Given the description of an element on the screen output the (x, y) to click on. 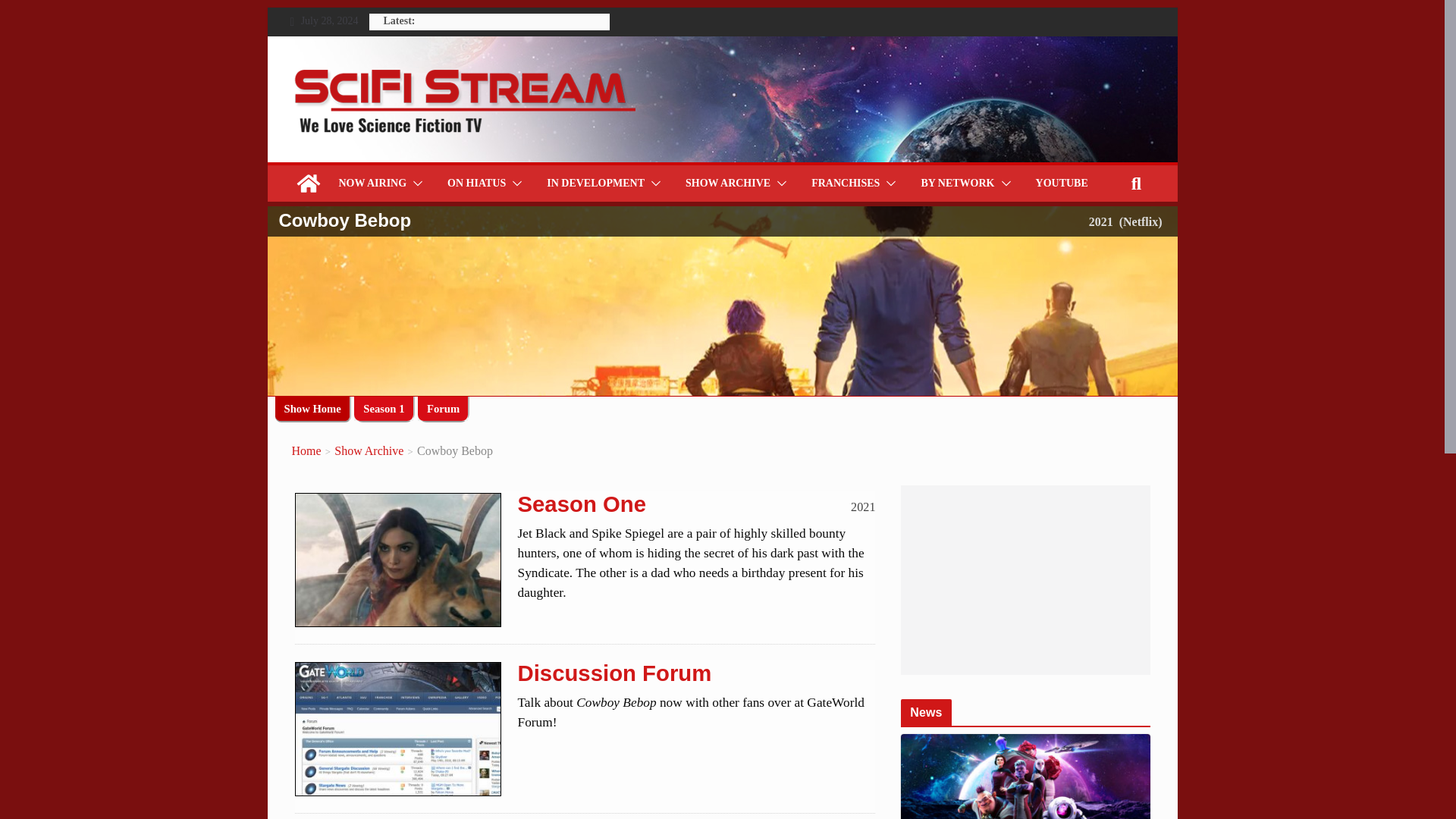
ON HIATUS (475, 183)
Star Trek: Prodigy Has A Brand New Trailer (1025, 776)
Advertisement (1025, 579)
SciFi Stream (307, 183)
NOW AIRING (371, 183)
